Given the description of an element on the screen output the (x, y) to click on. 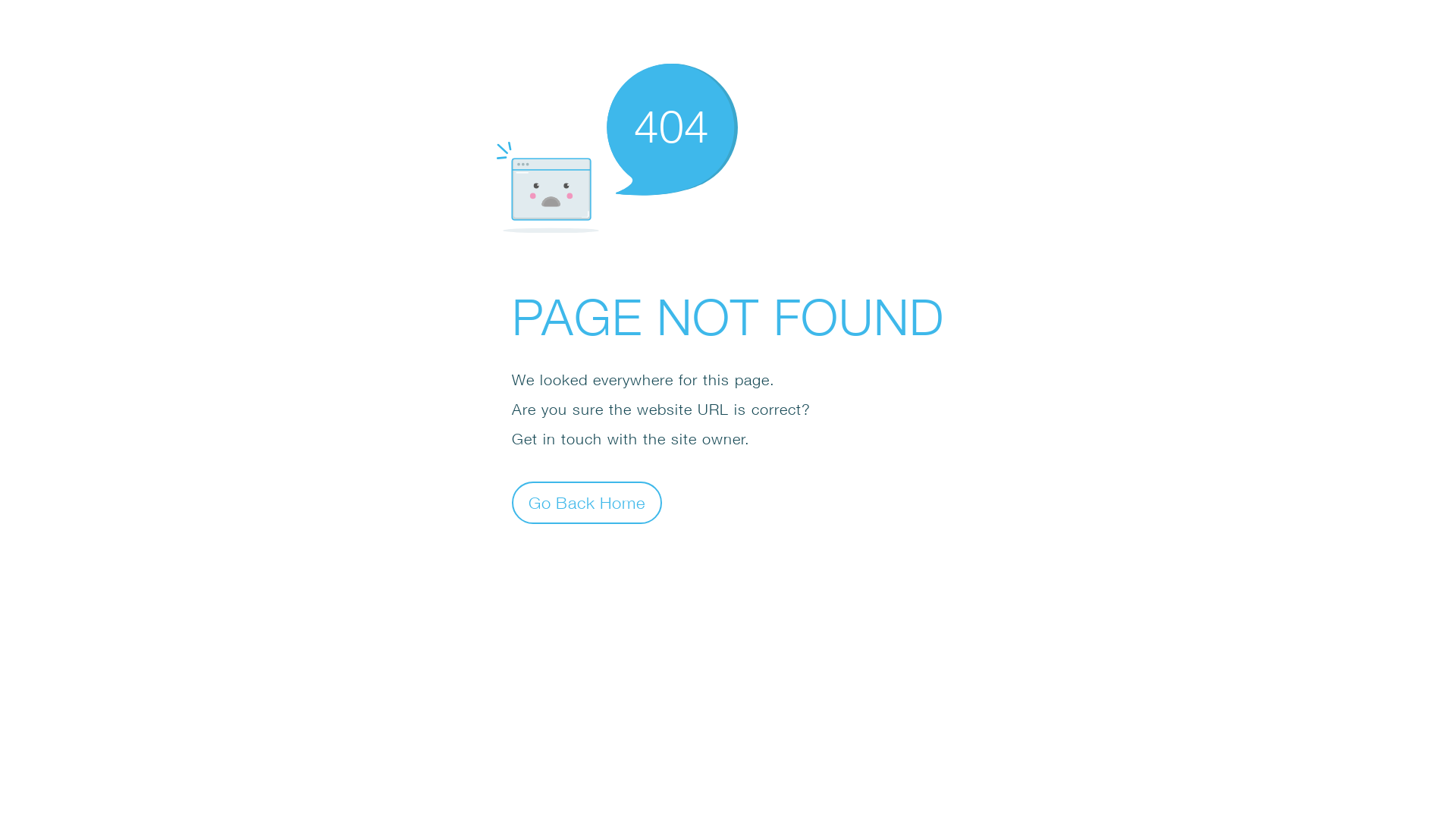
Go Back Home Element type: text (586, 502)
